Given the description of an element on the screen output the (x, y) to click on. 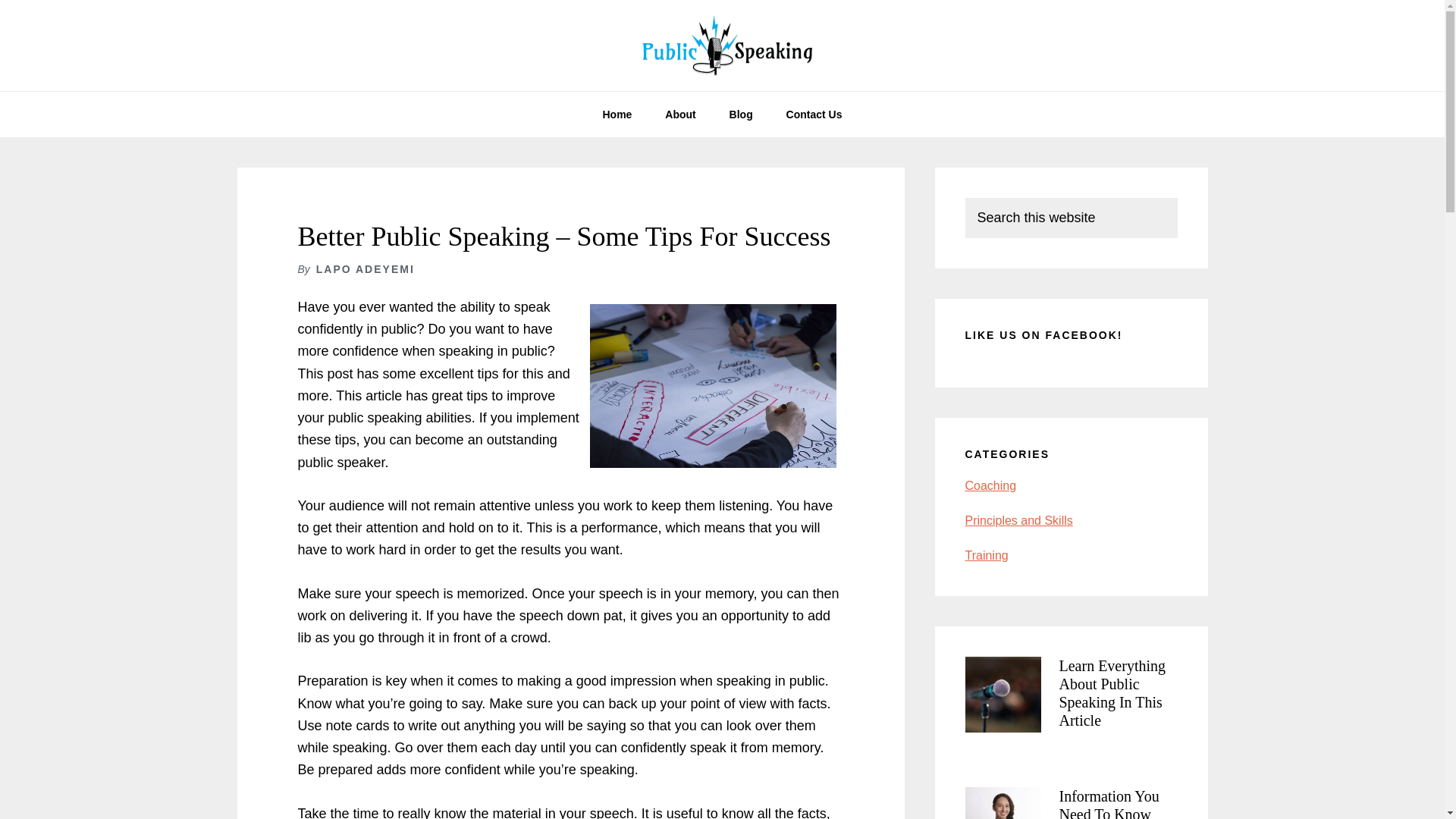
Blog (741, 114)
Principles and Skills (1017, 520)
Contact Us (814, 114)
Training (985, 554)
Learn Everything About Public Speaking In This Article (1112, 692)
About (679, 114)
Information You Need To Know About Public Speaking (1108, 803)
LAPO ADEYEMI (364, 268)
Home (616, 114)
Coaching (989, 485)
Public Speaking (721, 45)
